Given the description of an element on the screen output the (x, y) to click on. 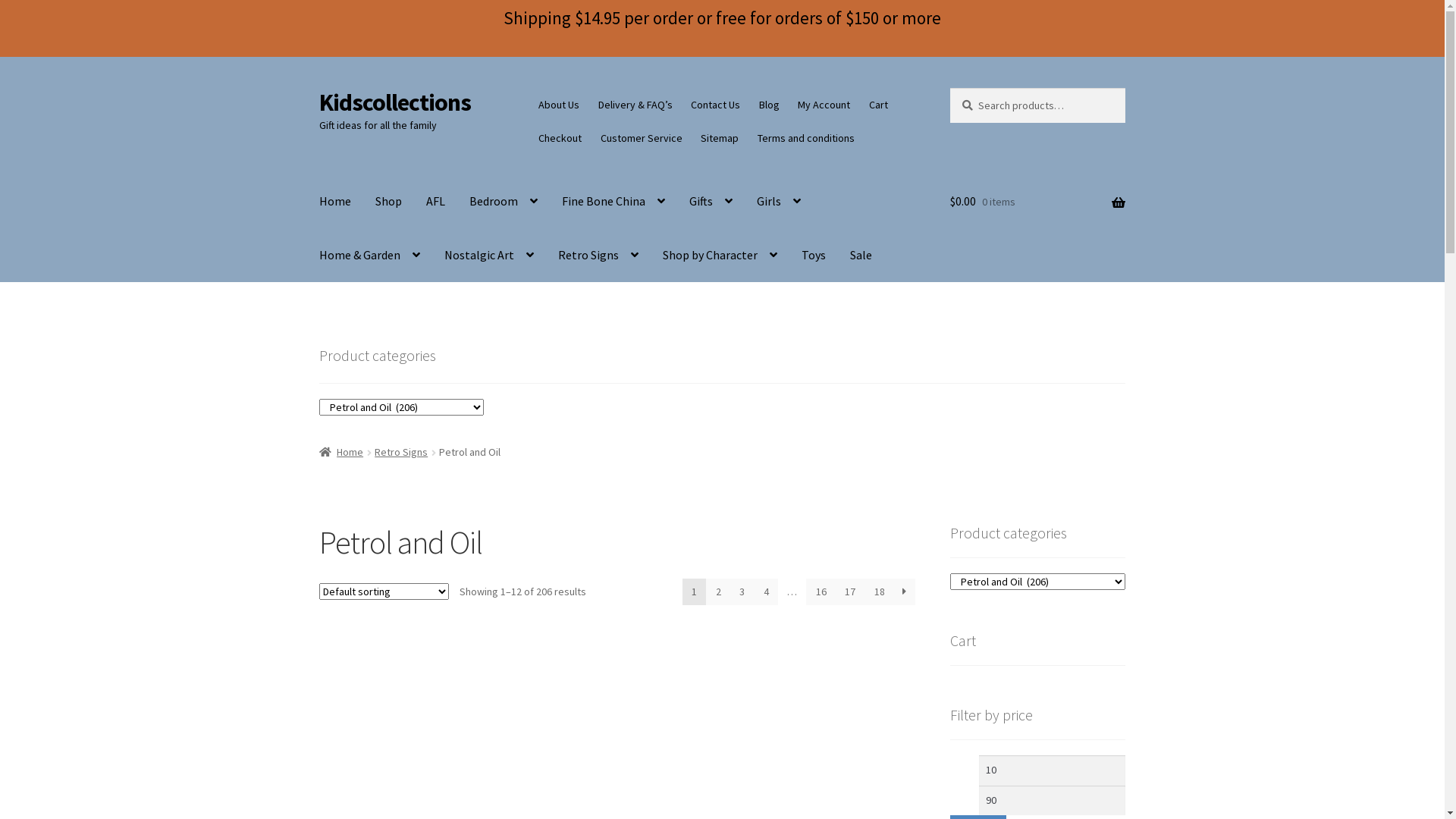
Retro Signs Element type: text (400, 451)
Search Element type: text (949, 87)
2 Element type: text (718, 591)
Sale Element type: text (860, 254)
Kidscollections Element type: text (394, 102)
3 Element type: text (742, 591)
Toys Element type: text (813, 254)
My Account Element type: text (823, 104)
Blog Element type: text (769, 104)
Home Element type: text (335, 200)
Cart Element type: text (878, 104)
Shop Element type: text (388, 200)
4 Element type: text (765, 591)
16 Element type: text (820, 591)
18 Element type: text (879, 591)
Contact Us Element type: text (715, 104)
17 Element type: text (850, 591)
Skip to navigation Element type: text (318, 87)
Bedroom Element type: text (503, 200)
Nostalgic Art Element type: text (489, 254)
Terms and conditions Element type: text (806, 137)
$0.00 0 items Element type: text (1037, 201)
Sitemap Element type: text (719, 137)
Checkout Element type: text (560, 137)
About Us Element type: text (559, 104)
Home Element type: text (341, 451)
Customer Service Element type: text (641, 137)
Fine Bone China Element type: text (613, 200)
Home & Garden Element type: text (369, 254)
Girls Element type: text (778, 200)
Retro Signs Element type: text (598, 254)
AFL Element type: text (435, 200)
Gifts Element type: text (710, 200)
Shop by Character Element type: text (719, 254)
